Given the description of an element on the screen output the (x, y) to click on. 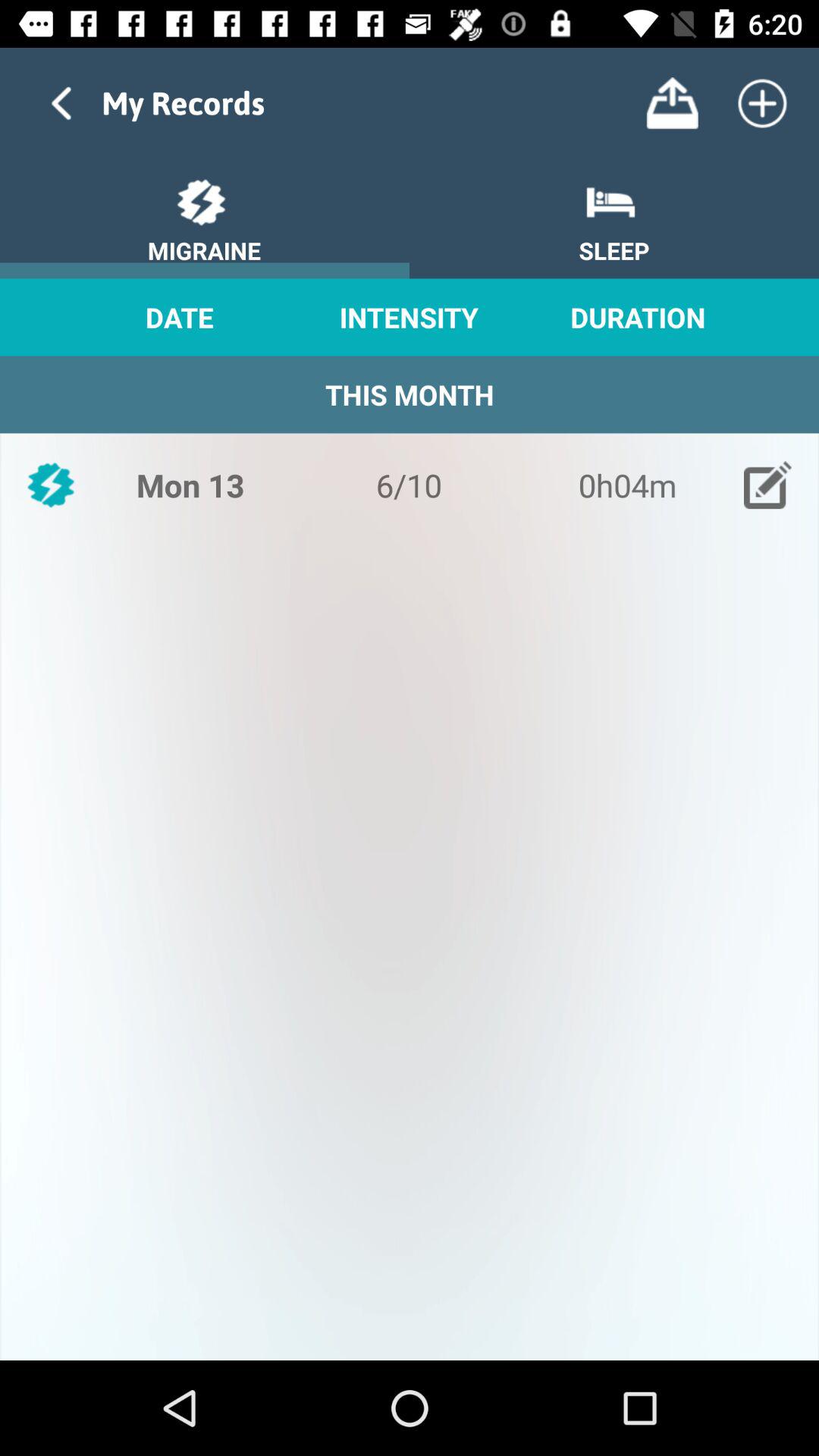
the button is used to upload (672, 103)
